Given the description of an element on the screen output the (x, y) to click on. 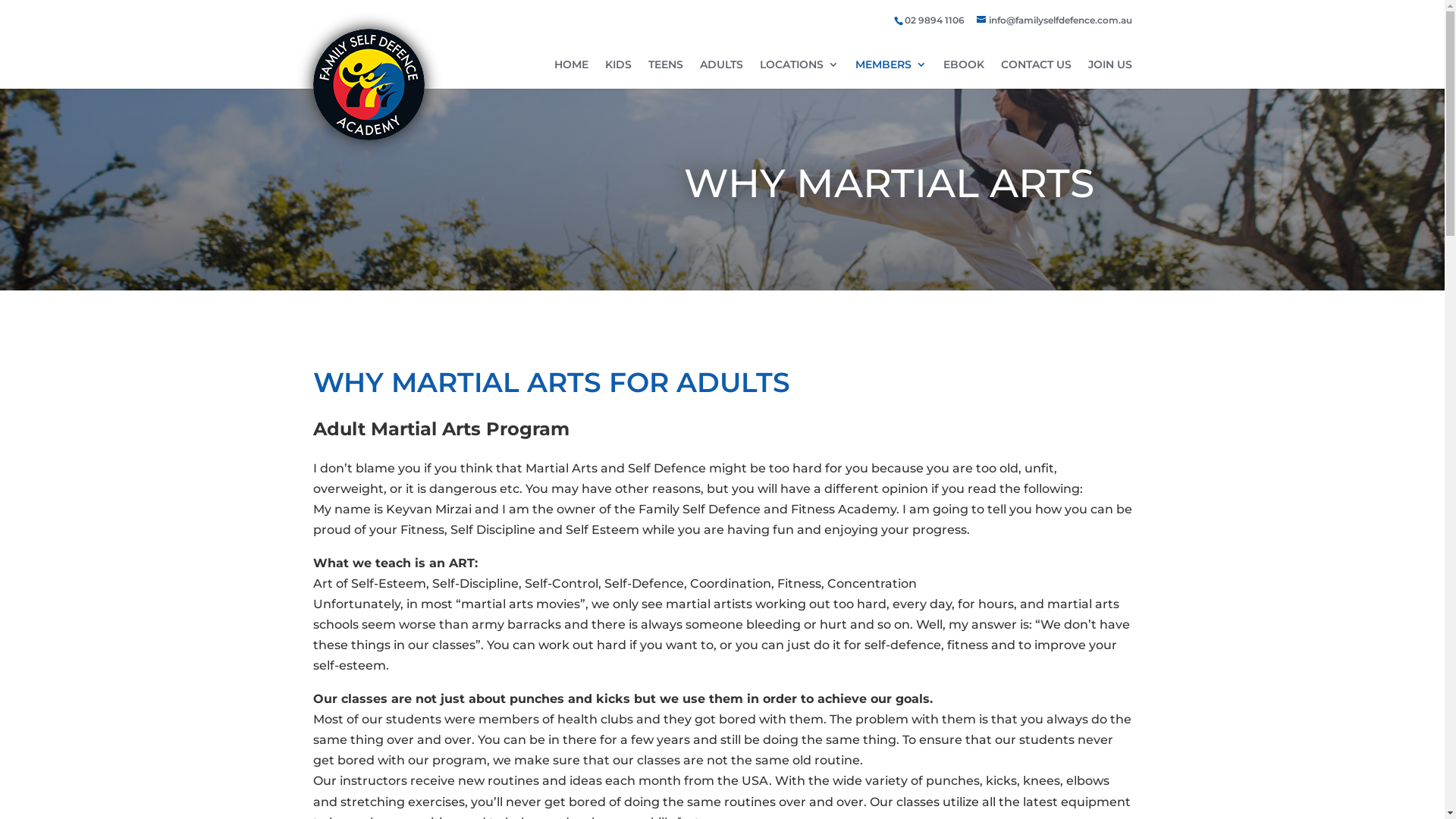
ADULTS Element type: text (720, 73)
EBOOK Element type: text (963, 73)
CONTACT US Element type: text (1036, 73)
info@familyselfdefence.com.au Element type: text (1054, 19)
TEENS Element type: text (664, 73)
HOME Element type: text (570, 73)
JOIN US Element type: text (1109, 73)
MEMBERS Element type: text (890, 73)
KIDS Element type: text (618, 73)
LOCATIONS Element type: text (798, 73)
